Given the description of an element on the screen output the (x, y) to click on. 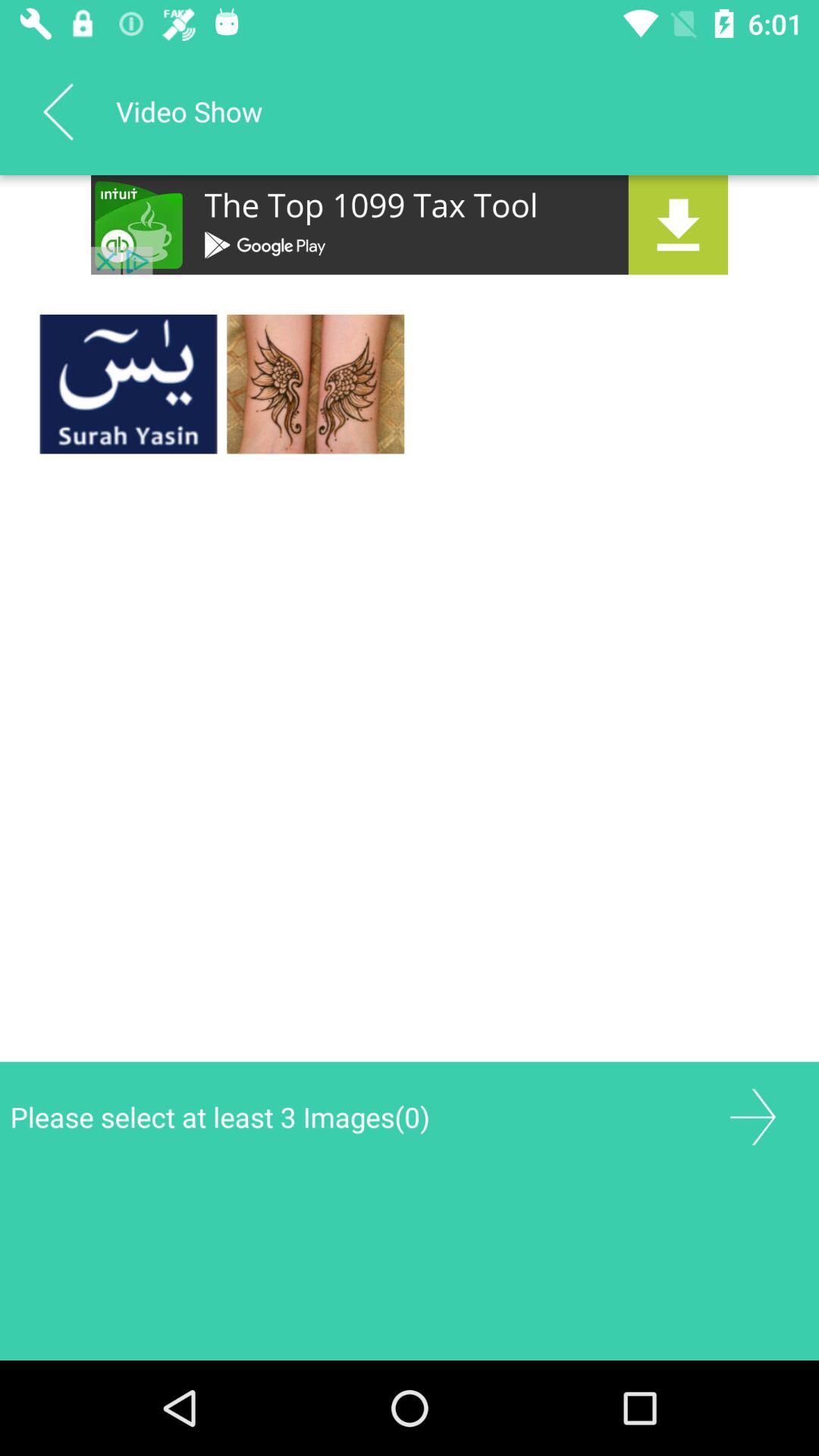
advertisement (409, 224)
